Given the description of an element on the screen output the (x, y) to click on. 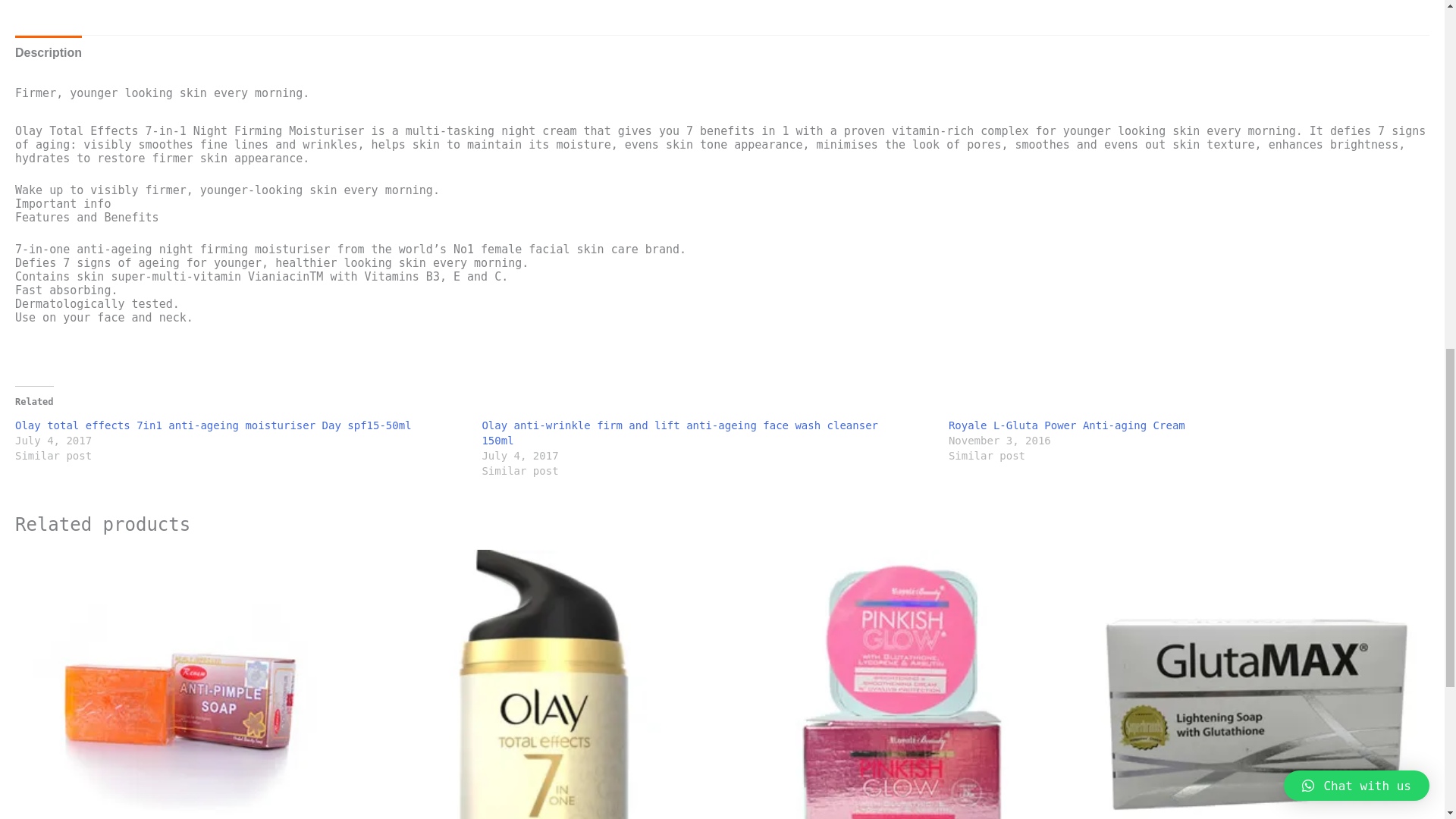
Royale L-Gluta Power Anti-aging Cream (1067, 425)
